Given the description of an element on the screen output the (x, y) to click on. 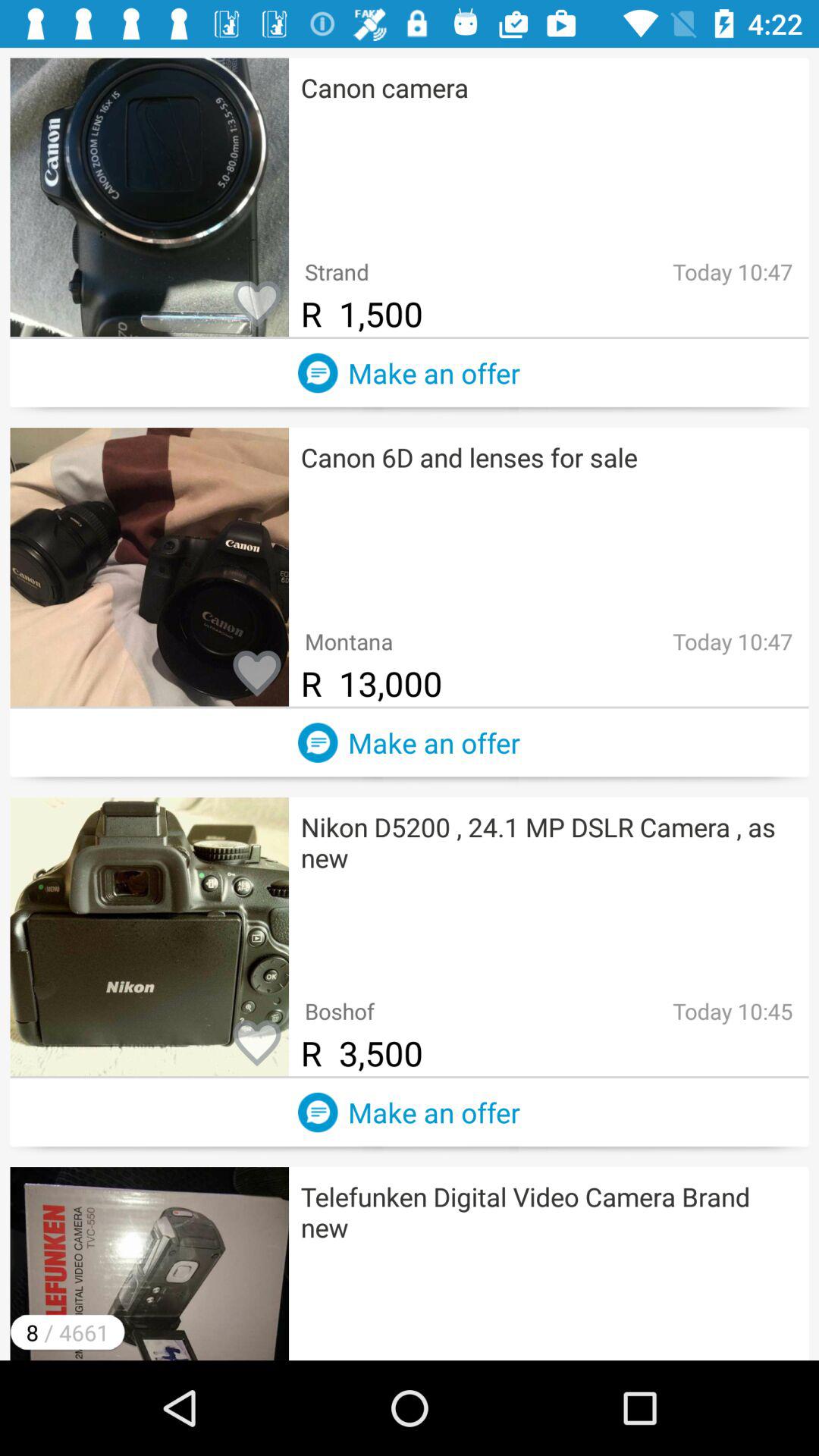
like (256, 304)
